Given the description of an element on the screen output the (x, y) to click on. 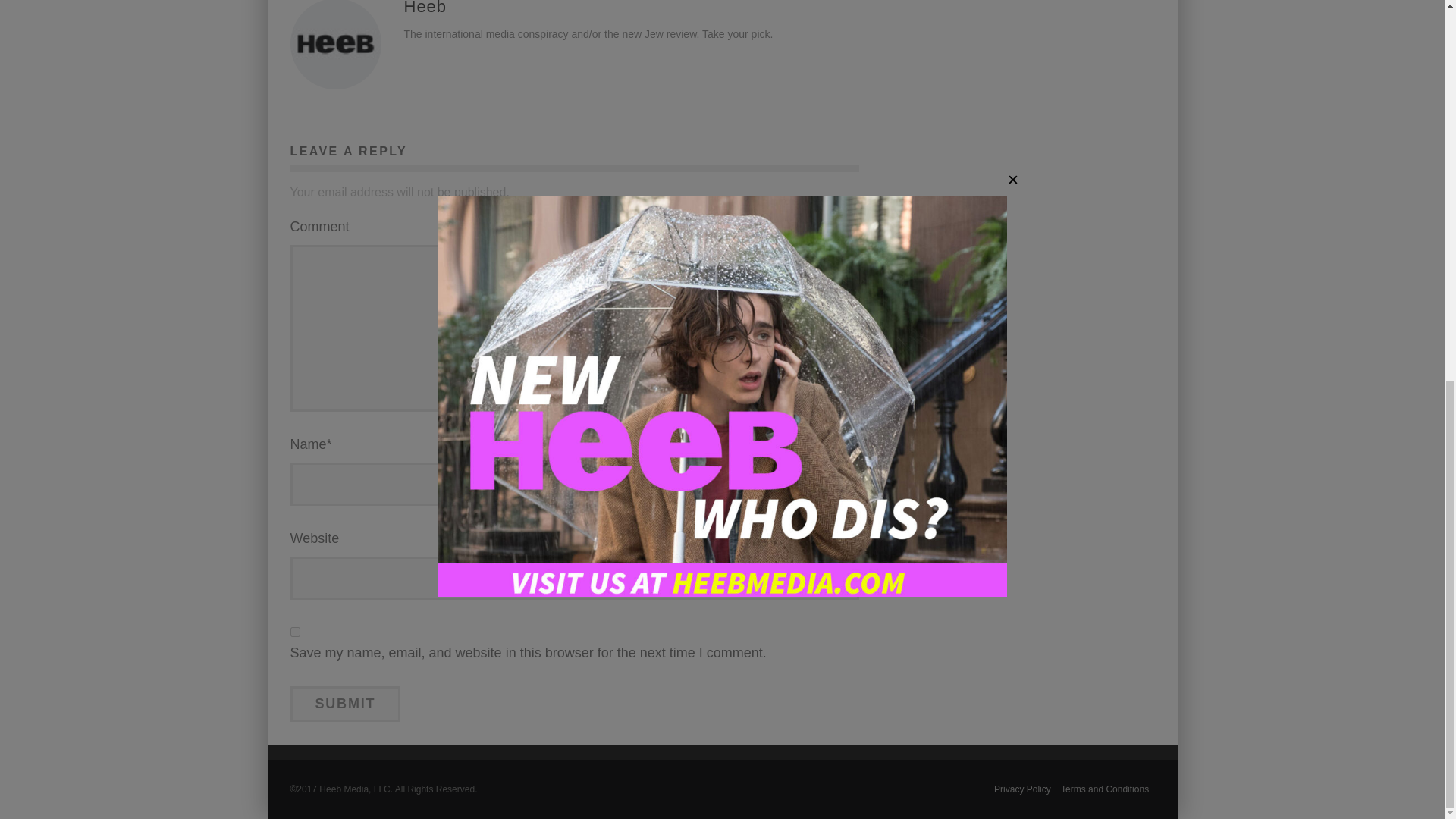
yes (294, 632)
Submit (344, 703)
Heeb (424, 7)
Submit (344, 703)
